Given the description of an element on the screen output the (x, y) to click on. 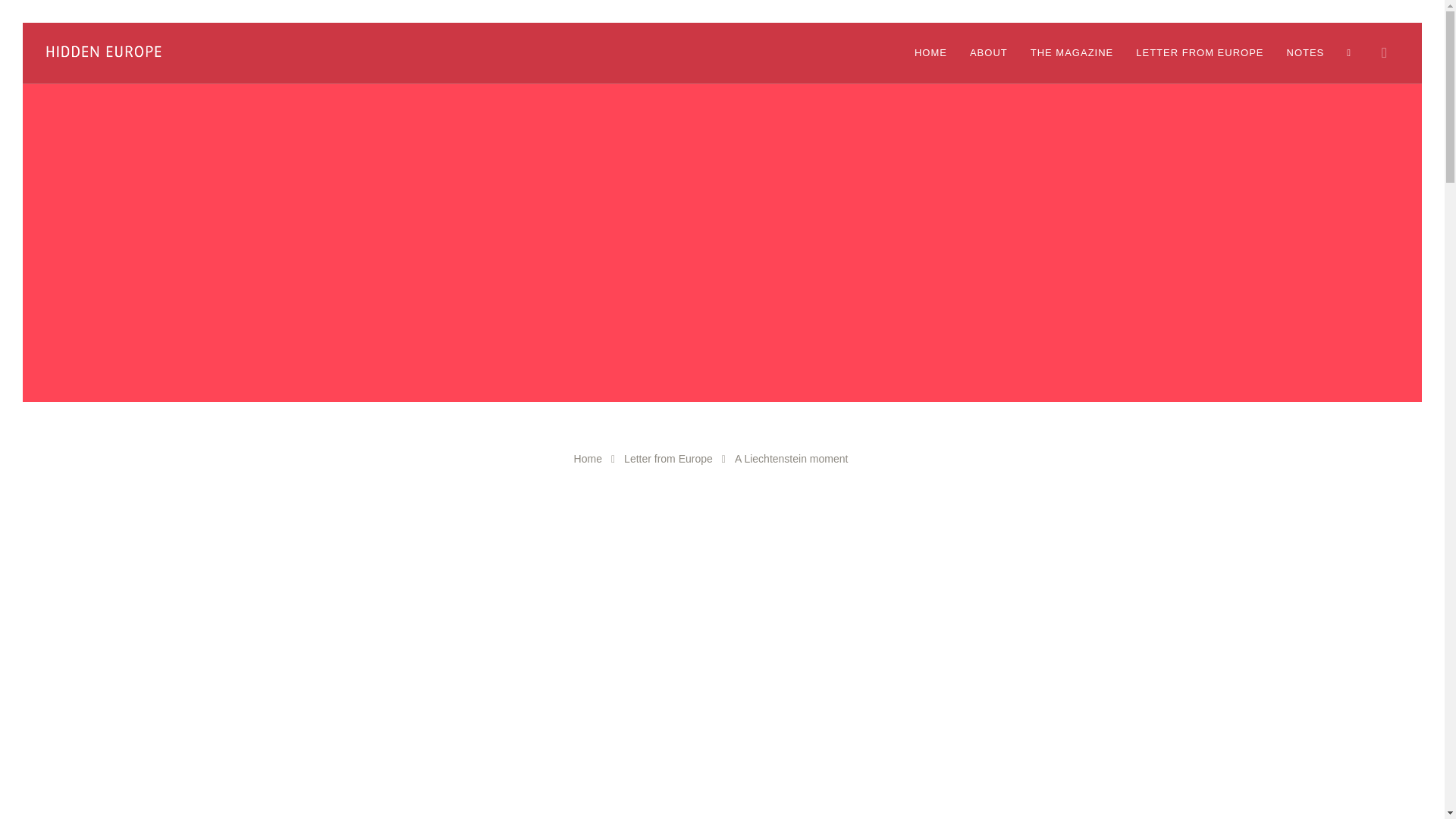
THE MAGAZINE (1071, 52)
Letter from Europe (668, 458)
Home (587, 458)
LETTER FROM EUROPE (1199, 52)
